Given the description of an element on the screen output the (x, y) to click on. 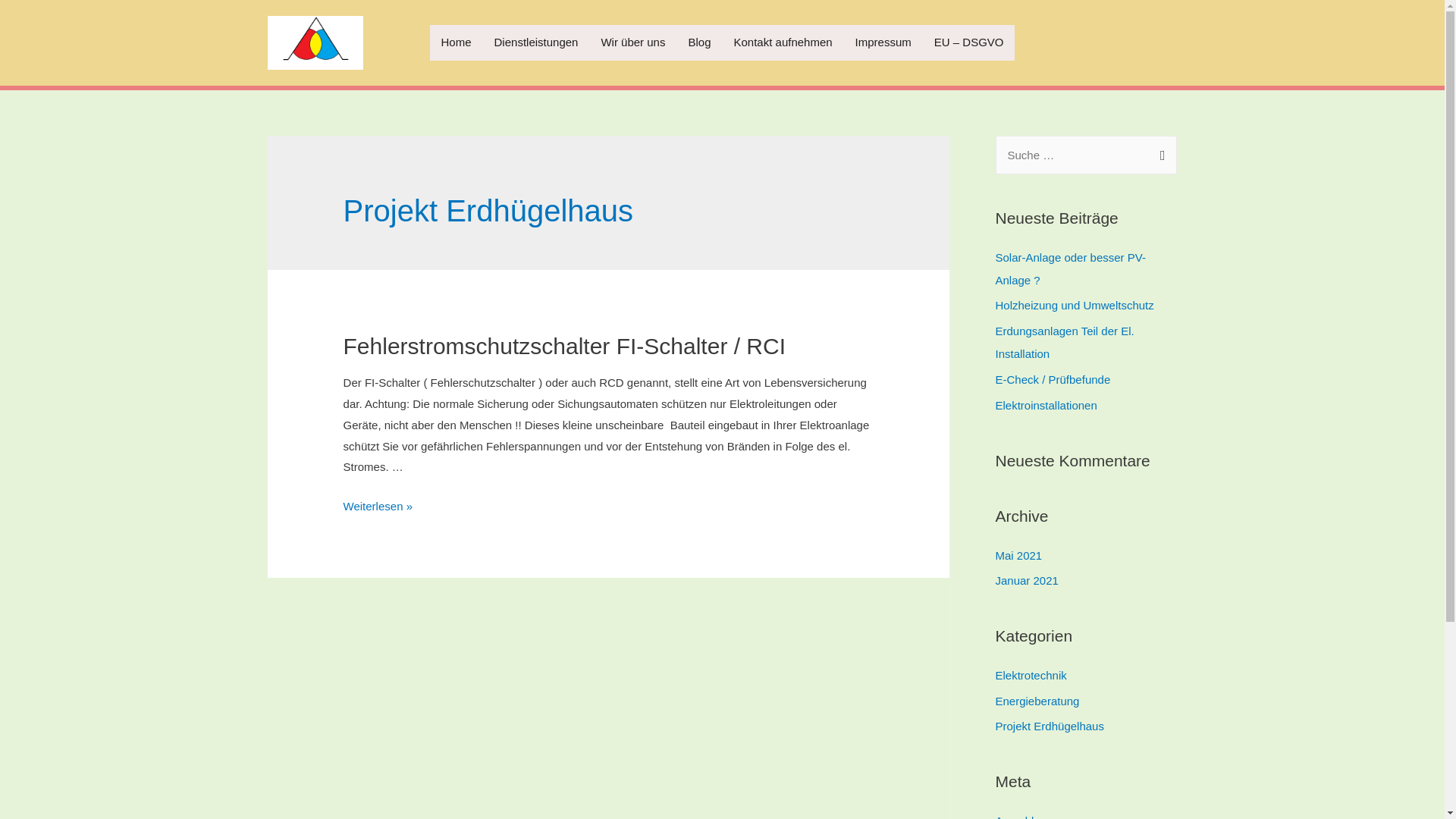
Suche Element type: text (1159, 150)
Blog Element type: text (698, 42)
Dienstleistungen Element type: text (536, 42)
Kontakt aufnehmen Element type: text (782, 42)
Erdungsanlagen Teil der El. Installation Element type: text (1063, 342)
Januar 2021 Element type: text (1025, 580)
Solar-Anlage oder besser PV-Anlage ? Element type: text (1069, 267)
Impressum Element type: text (883, 42)
Mai 2021 Element type: text (1017, 555)
Energieberatung Element type: text (1036, 700)
Holzheizung und Umweltschutz Element type: text (1073, 304)
Fehlerstromschutzschalter FI-Schalter / RCI Element type: text (564, 345)
Elektroinstallationen Element type: text (1045, 404)
Home Element type: text (456, 42)
Elektrotechnik Element type: text (1030, 674)
